Given the description of an element on the screen output the (x, y) to click on. 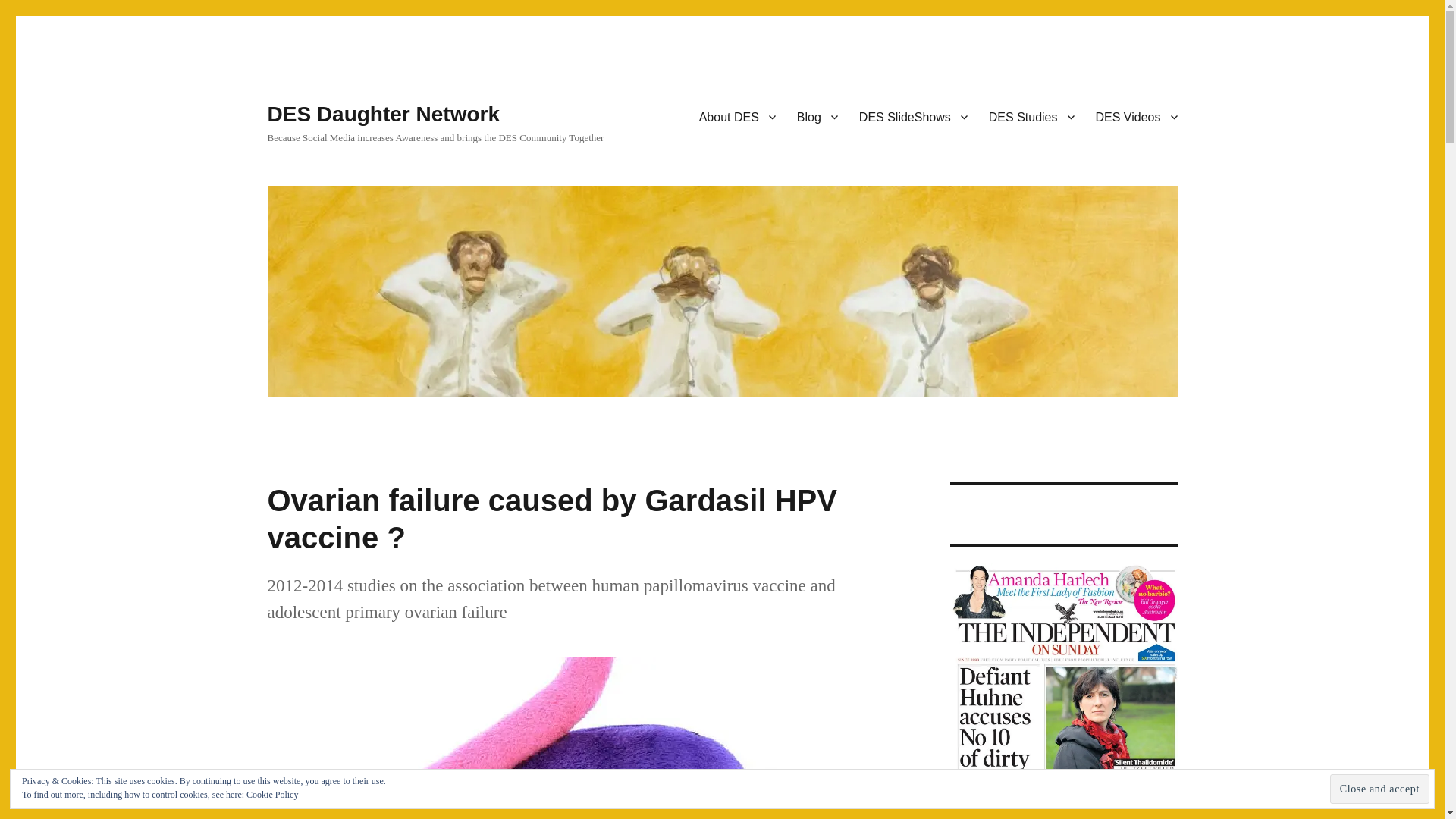
All posts (817, 116)
Close and accept (1379, 788)
DES SlideShows (913, 116)
DES Studies (1031, 116)
About DES (737, 116)
Blog (817, 116)
DES Daughter Network (382, 114)
DES Videos (1136, 116)
